Given the description of an element on the screen output the (x, y) to click on. 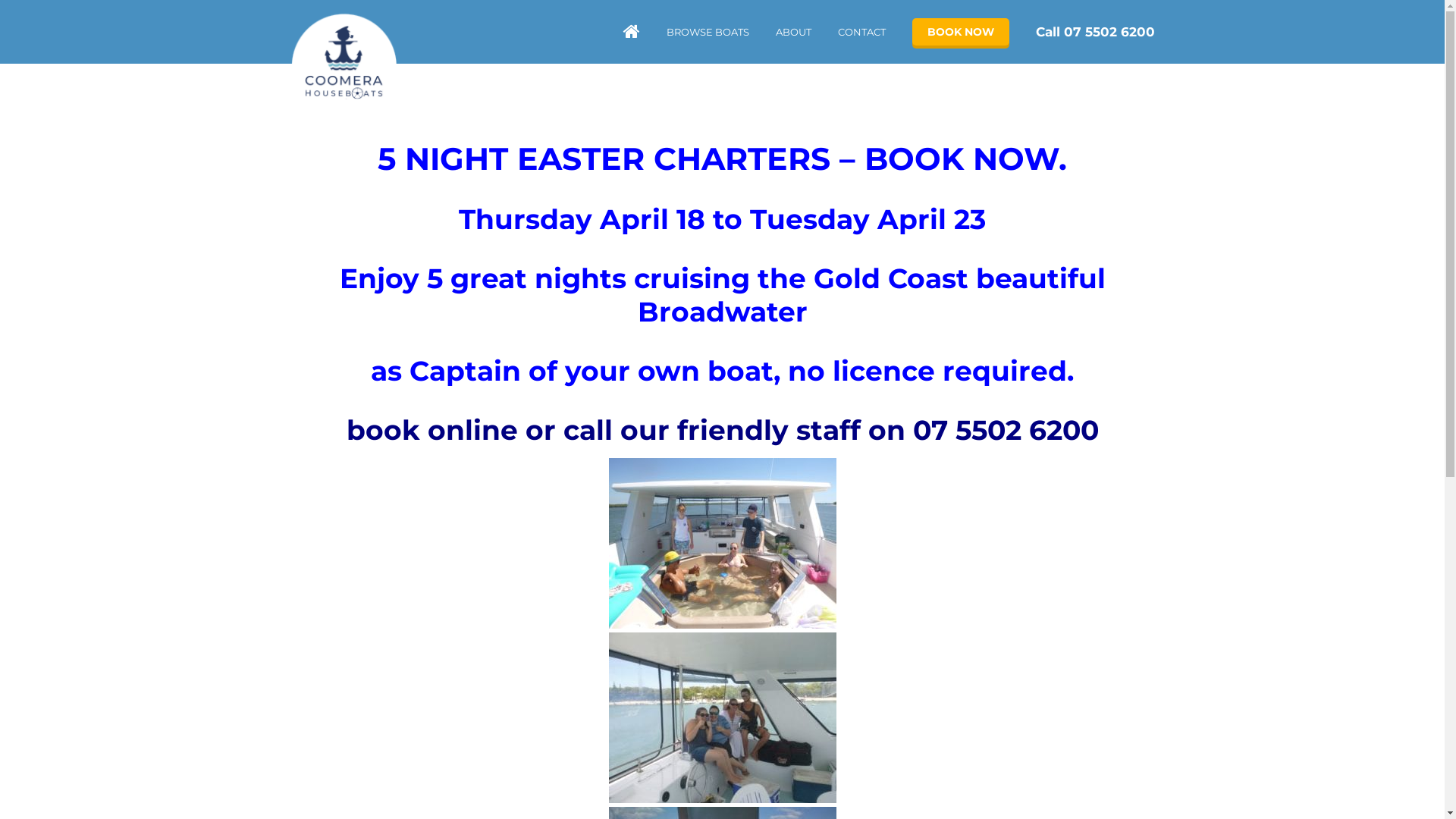
ABOUT Element type: text (792, 31)
BOOK NOW Element type: text (959, 31)
BROWSE BOATS Element type: text (706, 31)
CONTACT Element type: text (860, 31)
Call 07 5502 6200 Element type: text (1094, 31)
Home Element type: hover (342, 64)
